Given the description of an element on the screen output the (x, y) to click on. 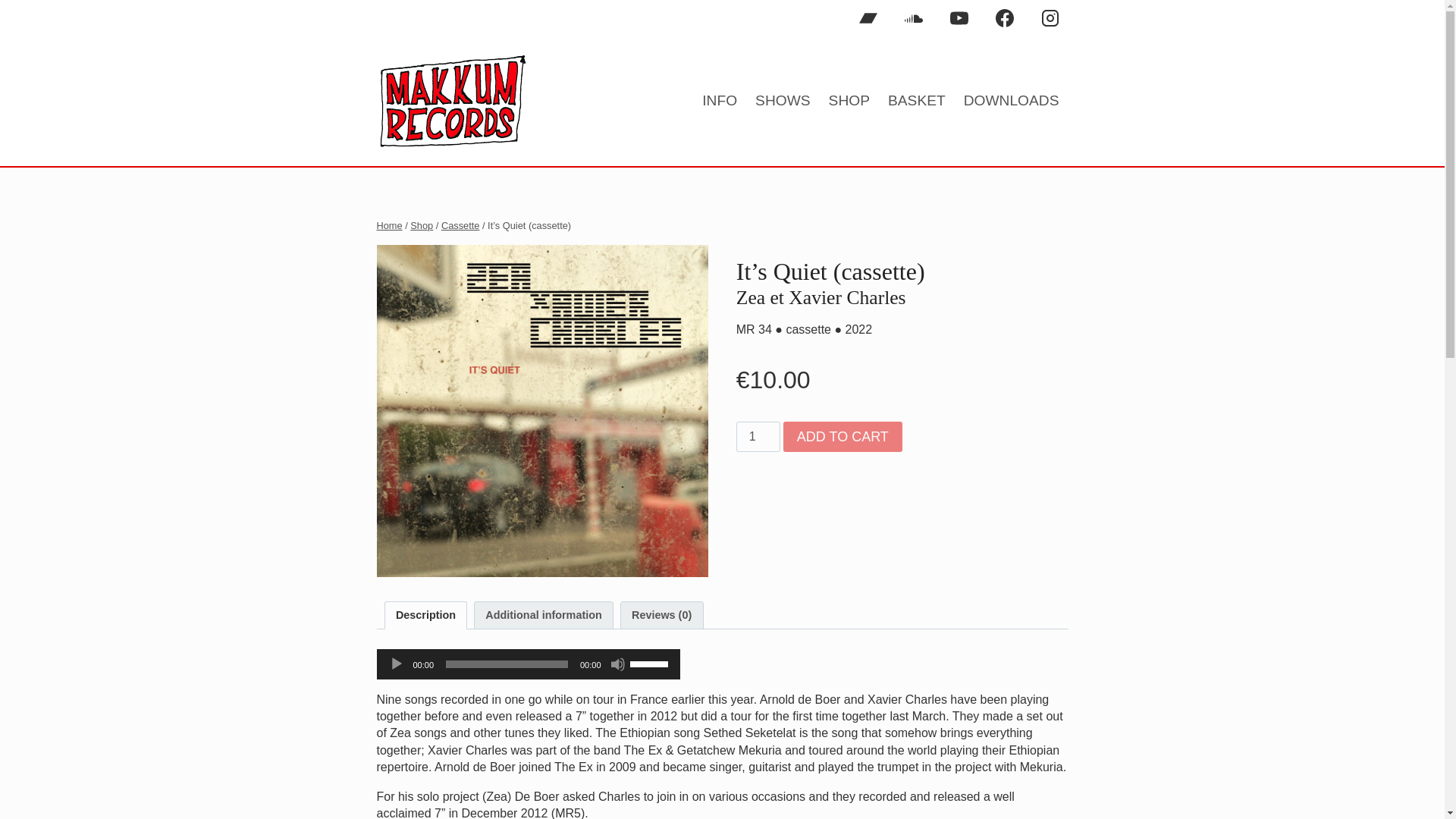
BASKET (917, 101)
Play (395, 663)
Cassette (460, 225)
Mute (617, 663)
SHOP (849, 101)
ADD TO CART (842, 436)
Description (426, 614)
DOWNLOADS (1011, 101)
Shop (421, 225)
SHOWS (782, 101)
INFO (719, 101)
1 (758, 436)
Home (388, 225)
Additional information (543, 614)
